Given the description of an element on the screen output the (x, y) to click on. 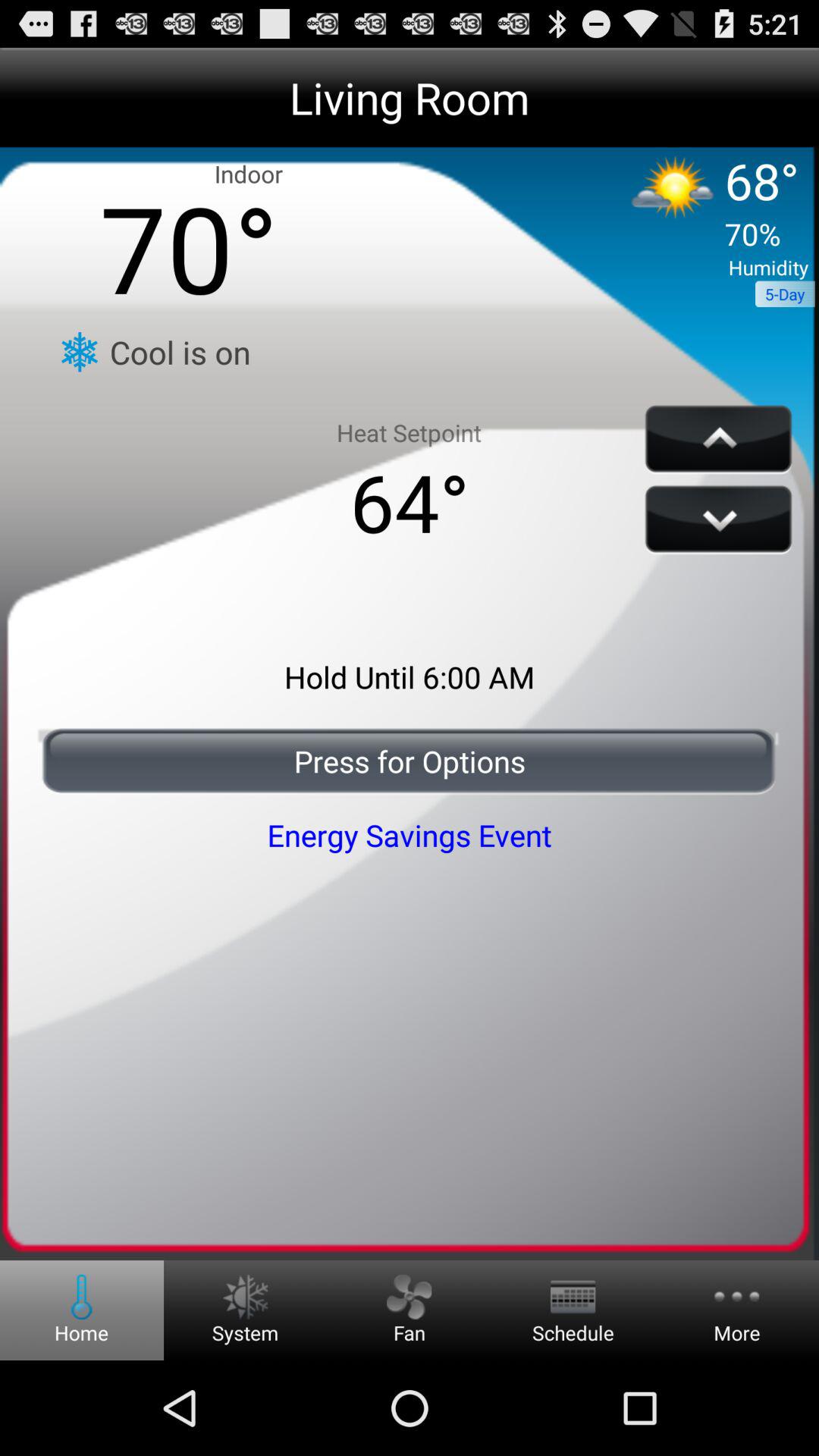
turn off the item below the hold until 6 item (409, 761)
